Given the description of an element on the screen output the (x, y) to click on. 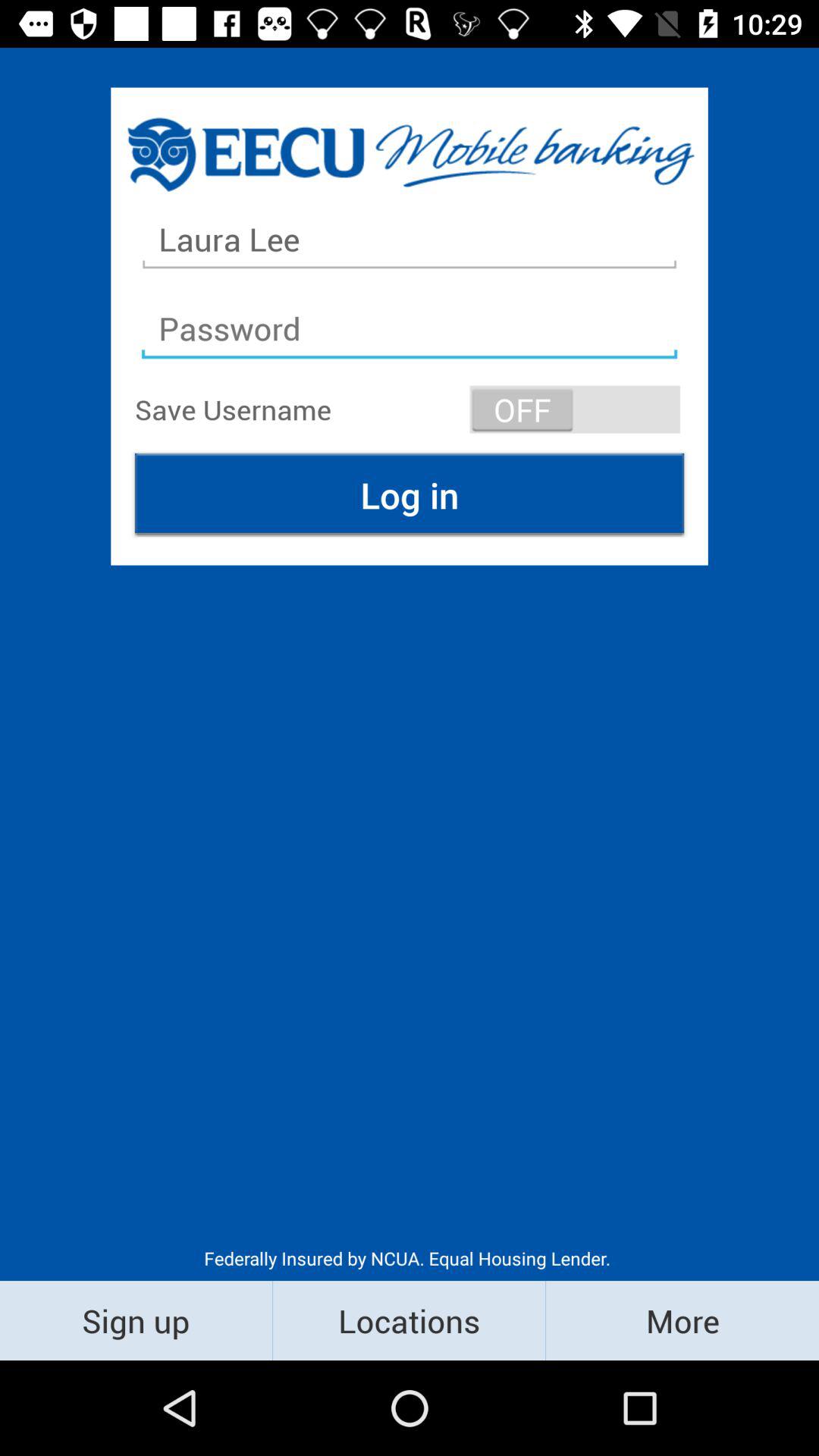
open the item above log in (574, 409)
